Given the description of an element on the screen output the (x, y) to click on. 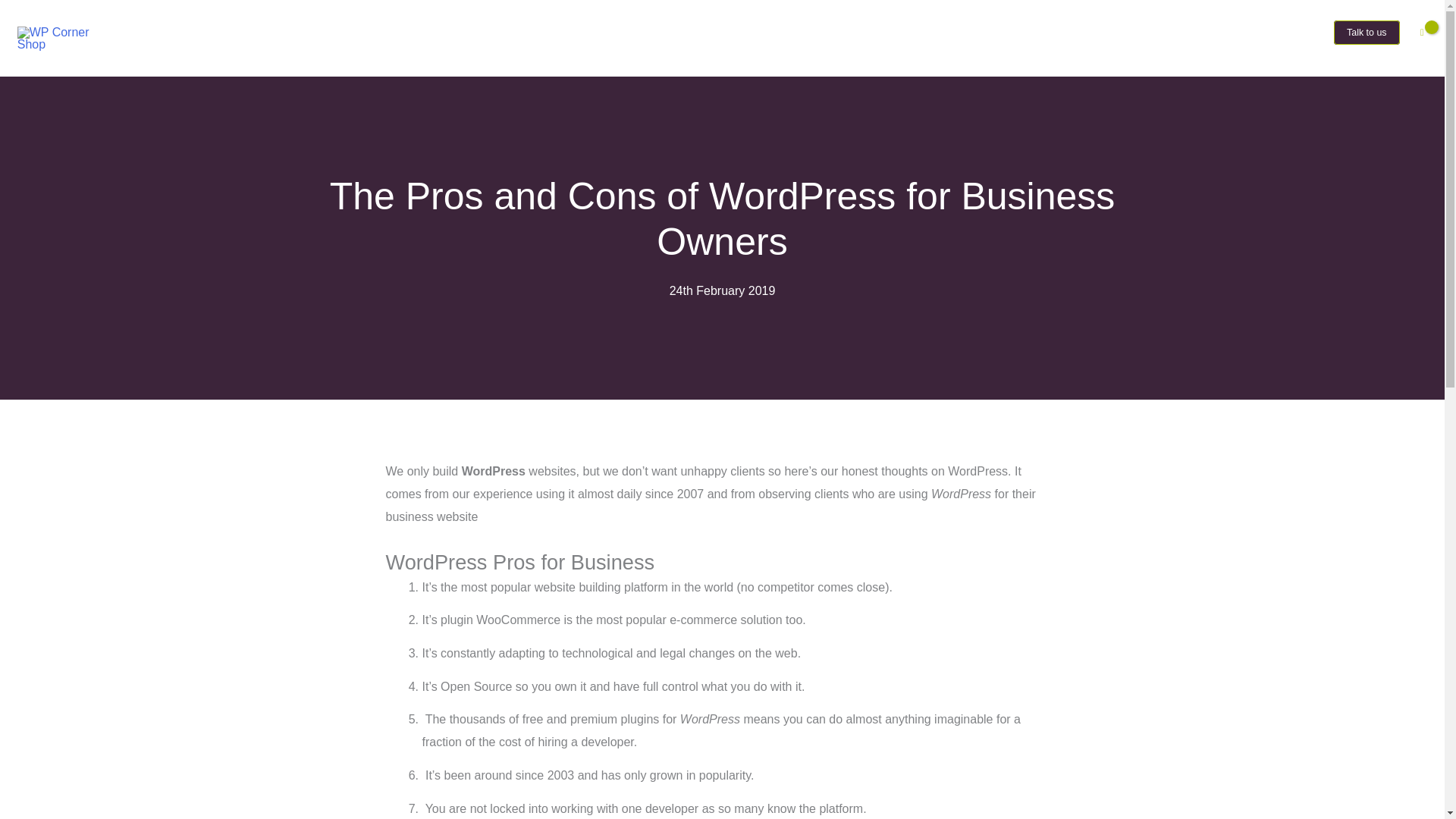
Home (1106, 33)
About (1161, 33)
Talk to us (1367, 33)
Shop (1292, 33)
Services (1227, 33)
